Given the description of an element on the screen output the (x, y) to click on. 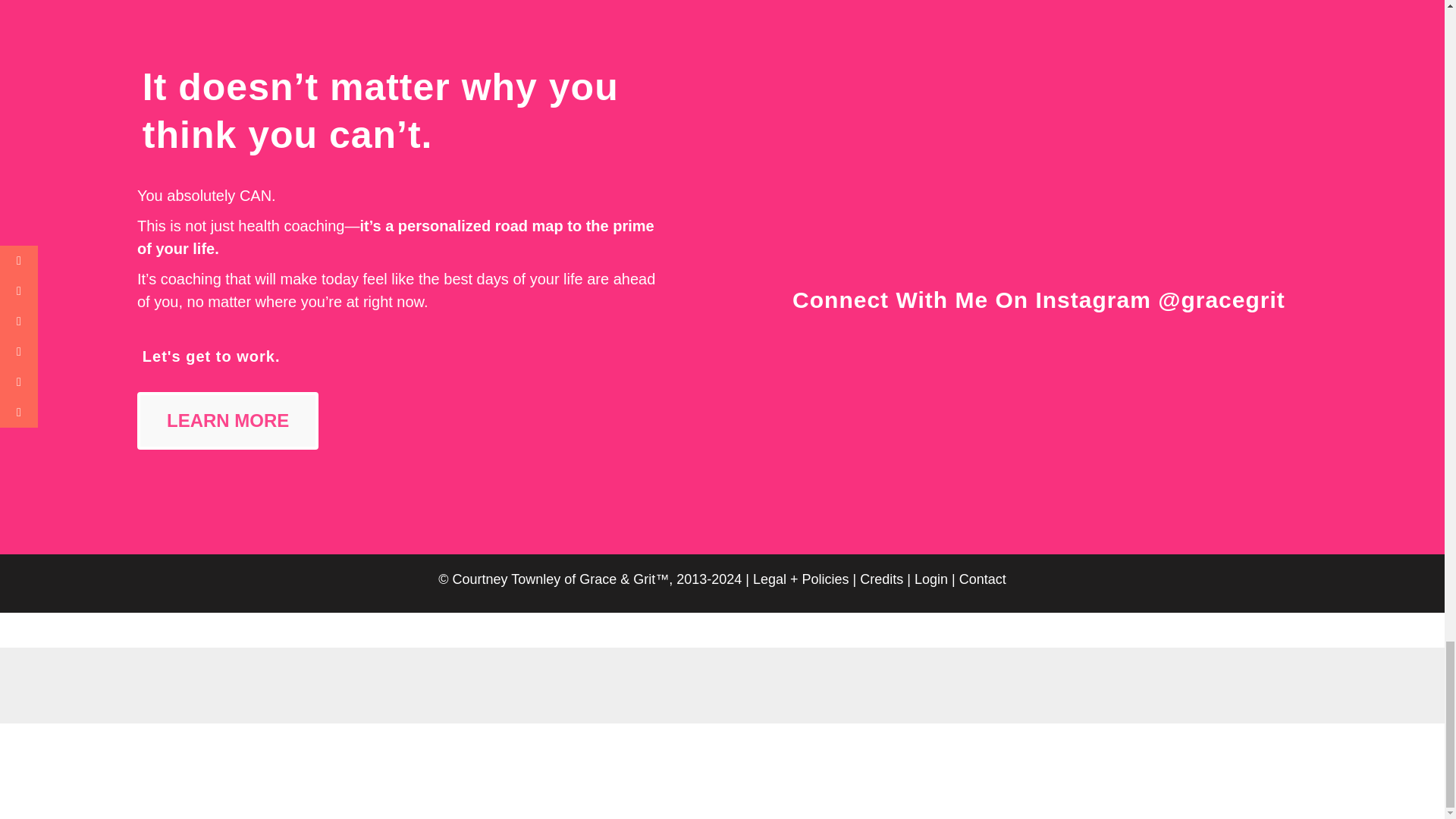
Let's get to work. (211, 356)
